Given the description of an element on the screen output the (x, y) to click on. 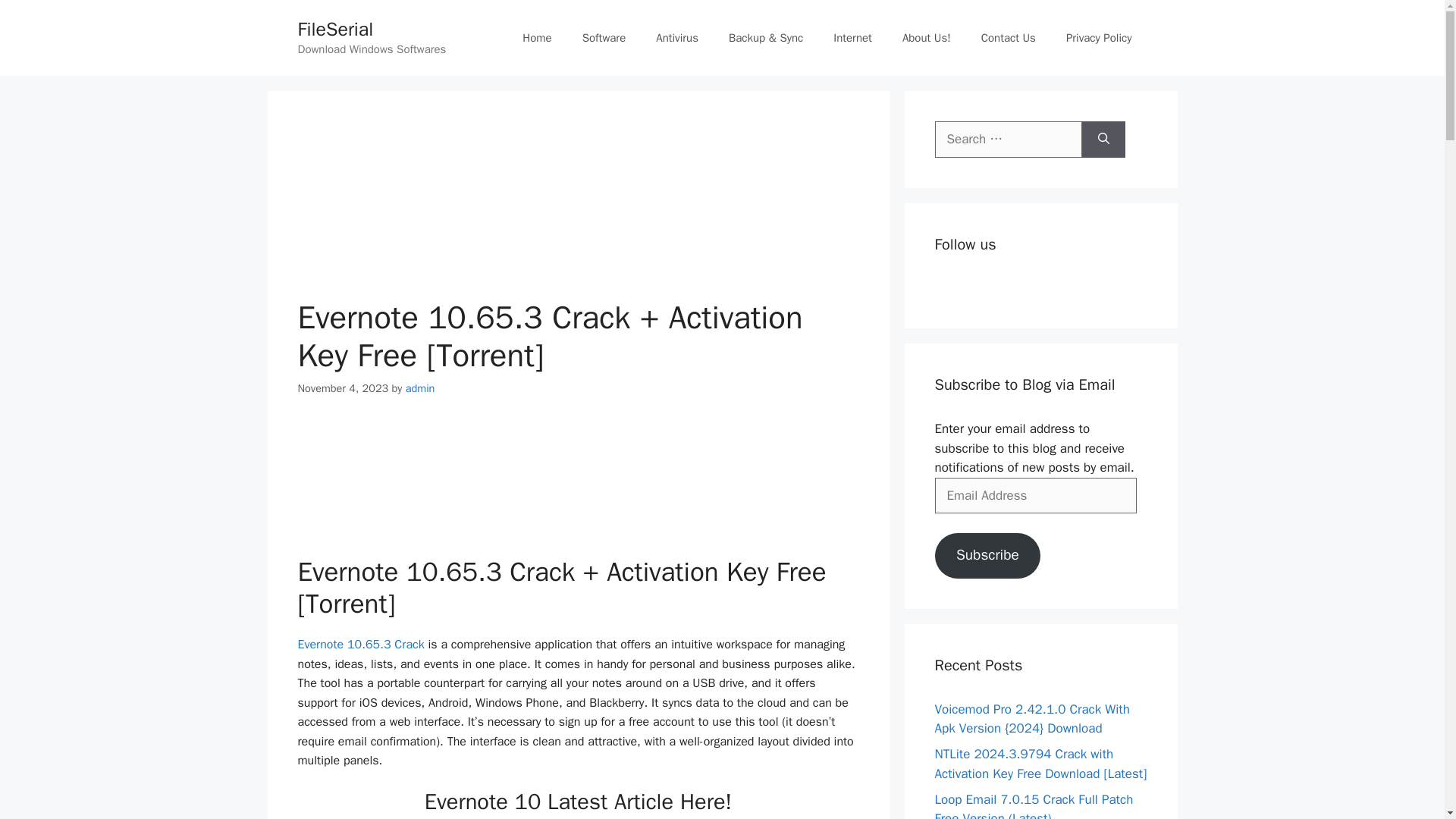
Contact Us (1008, 37)
Antivirus (676, 37)
Internet (852, 37)
FileSerial (334, 28)
Software (604, 37)
View all posts by admin (420, 387)
Privacy Policy (1099, 37)
Search for: (1007, 139)
Home (536, 37)
admin (420, 387)
